Given the description of an element on the screen output the (x, y) to click on. 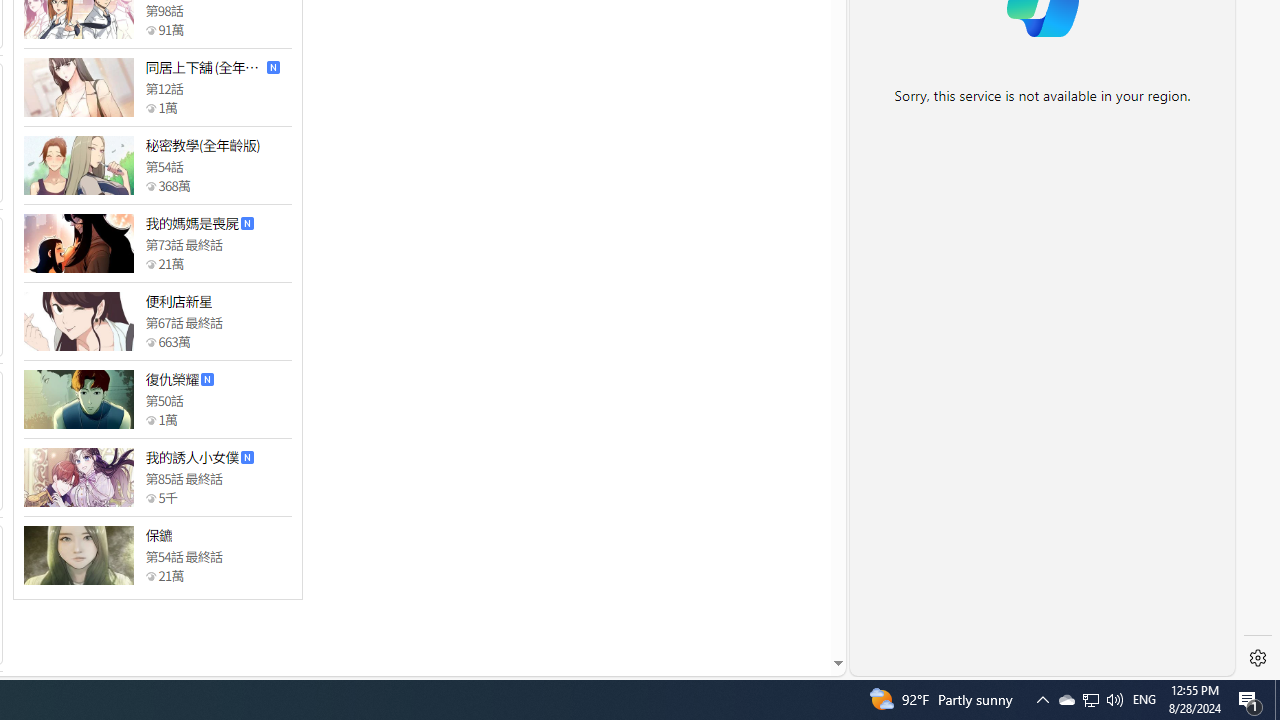
Class: thumb_img (78, 555)
Settings (1258, 658)
Class: epicon_starpoint (150, 575)
